Given the description of an element on the screen output the (x, y) to click on. 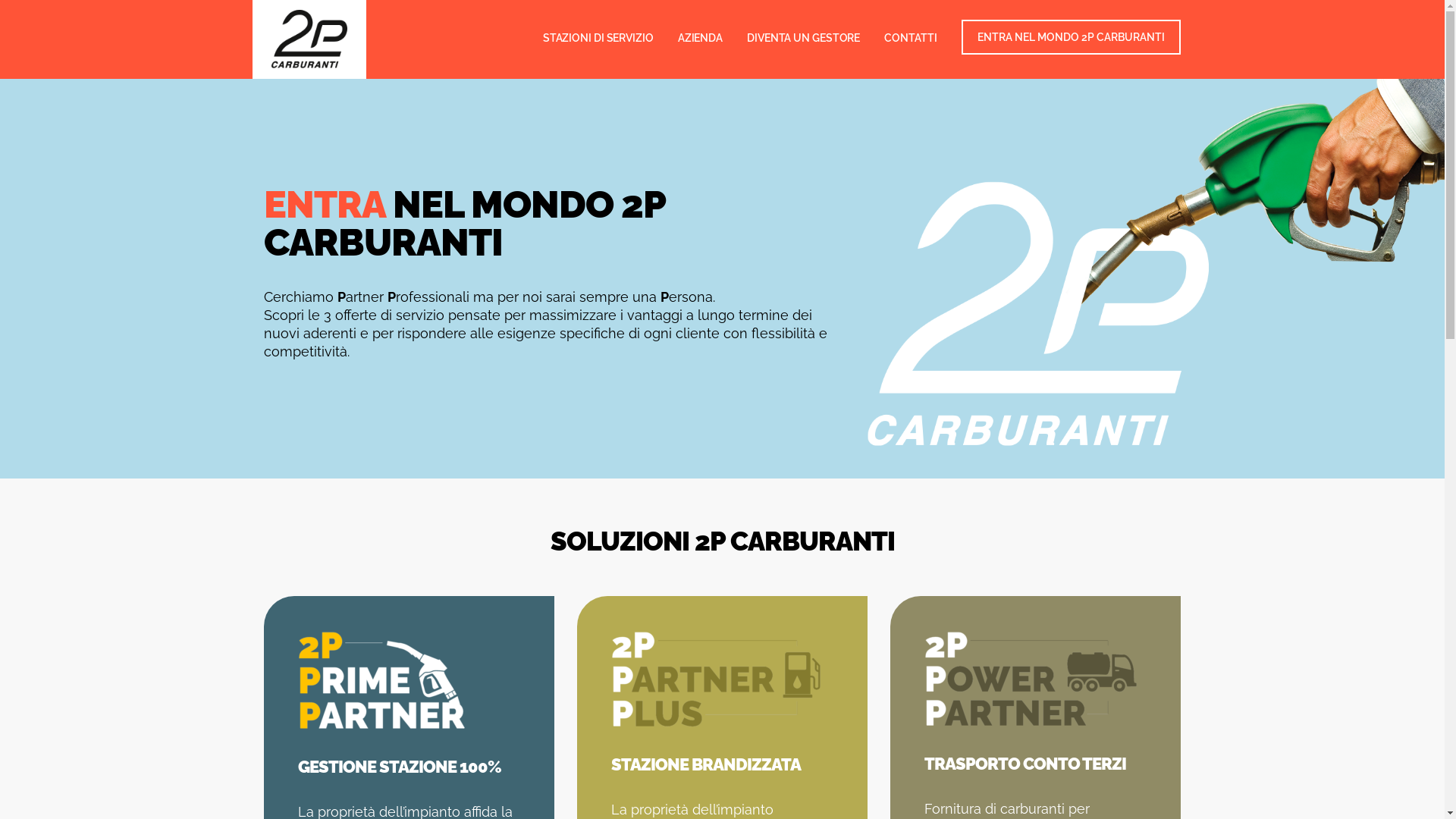
2p-carburanti-rete-3 Element type: hover (716, 679)
ENTRA NEL MONDO 2P CARBURANTI Element type: text (1070, 36)
DIVENTA UN GESTORE Element type: text (803, 37)
CONTATTI Element type: text (910, 37)
ENTRA NEL MONDO 2P CARBURANTI Element type: text (1070, 37)
2p-carburanti-rete-1 Element type: hover (381, 680)
2p-carburanti-rete-2 Element type: hover (1030, 679)
2p-carburanti-rete Element type: hover (1151, 263)
AZIENDA Element type: text (699, 37)
STAZIONI DI SERVIZIO Element type: text (597, 37)
